Given the description of an element on the screen output the (x, y) to click on. 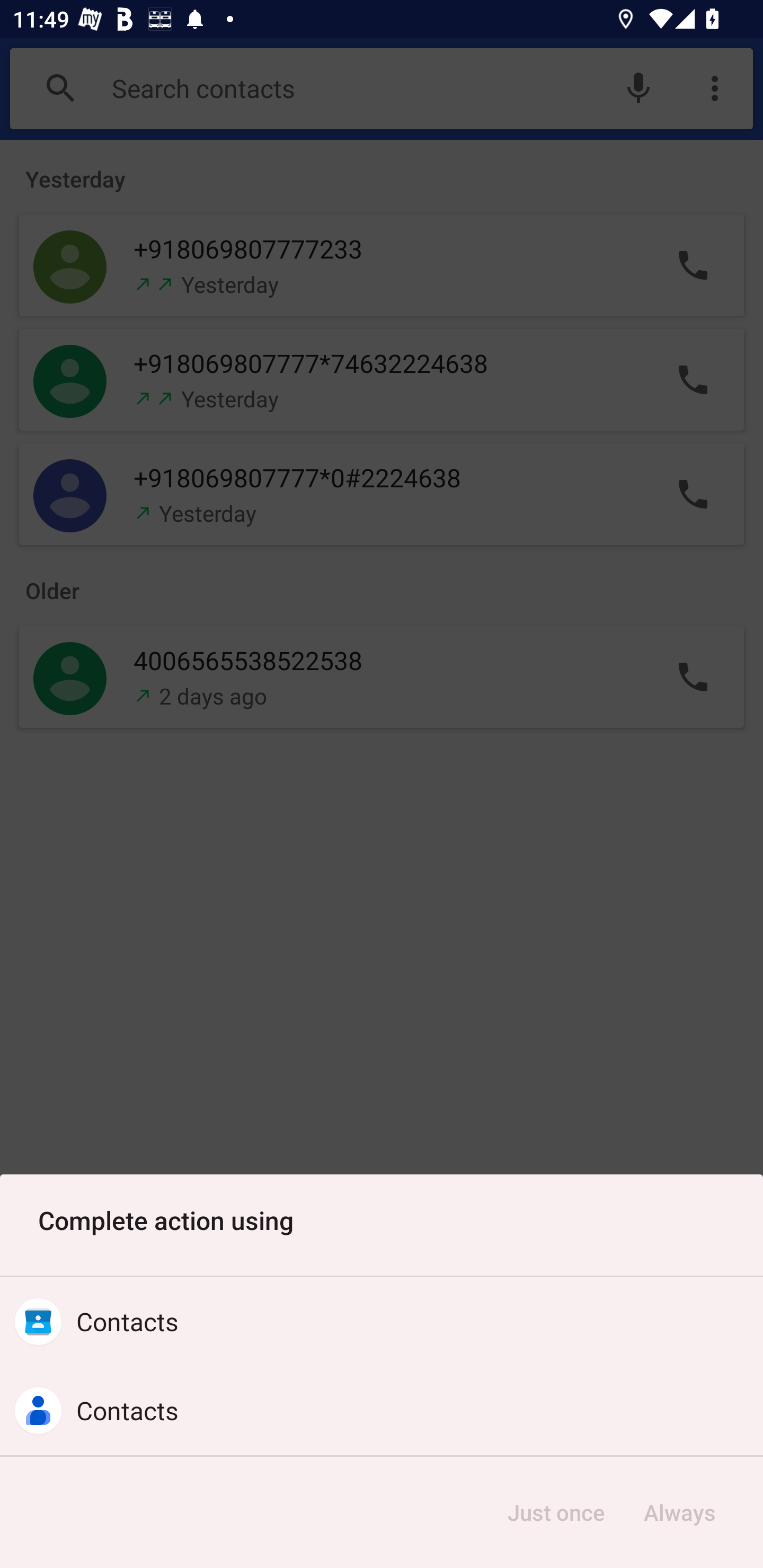
Contacts (381, 1321)
Contacts (381, 1410)
Just once (556, 1512)
Always (679, 1512)
